Given the description of an element on the screen output the (x, y) to click on. 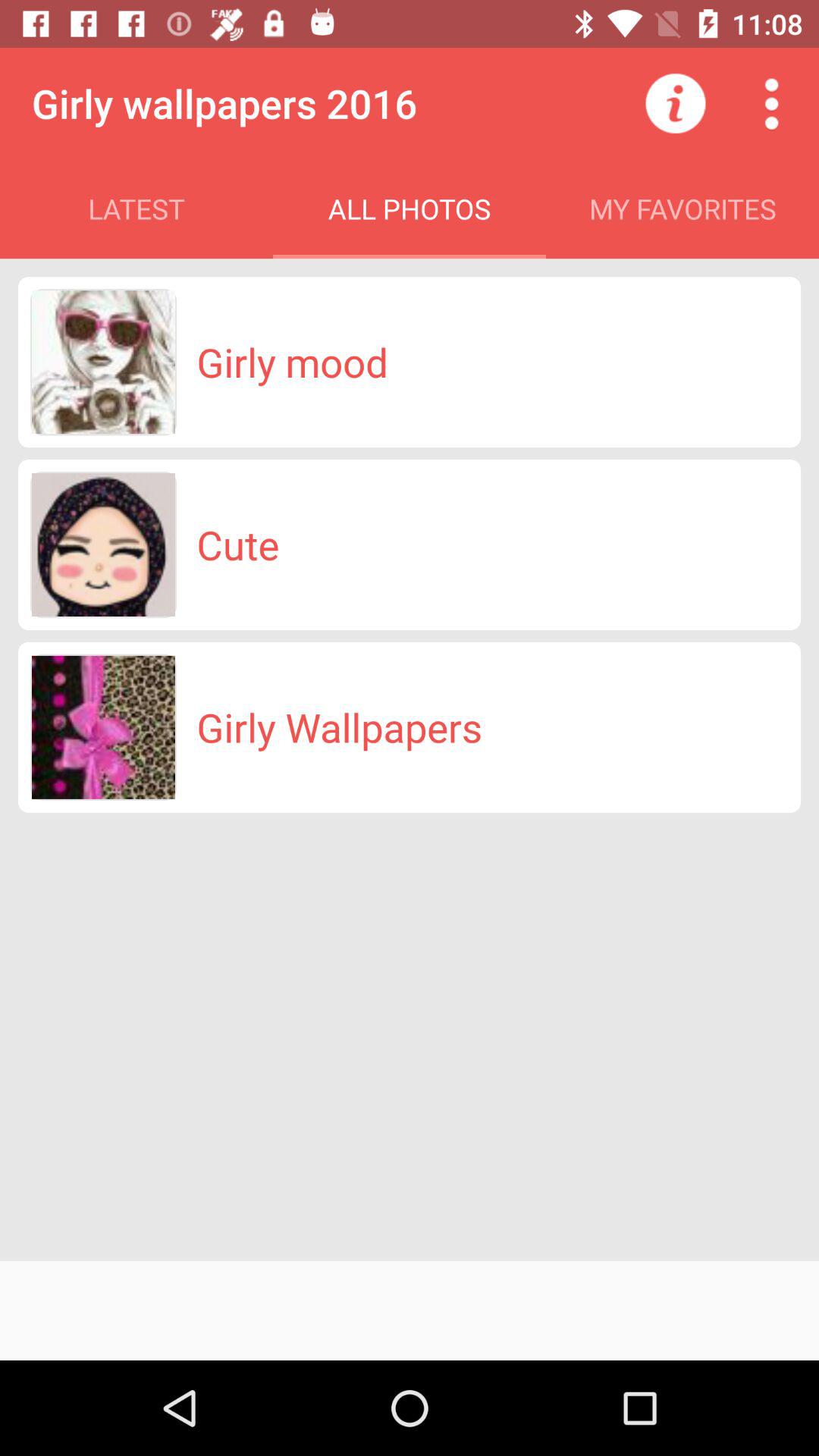
open the item to the right of the all photos app (675, 103)
